Given the description of an element on the screen output the (x, y) to click on. 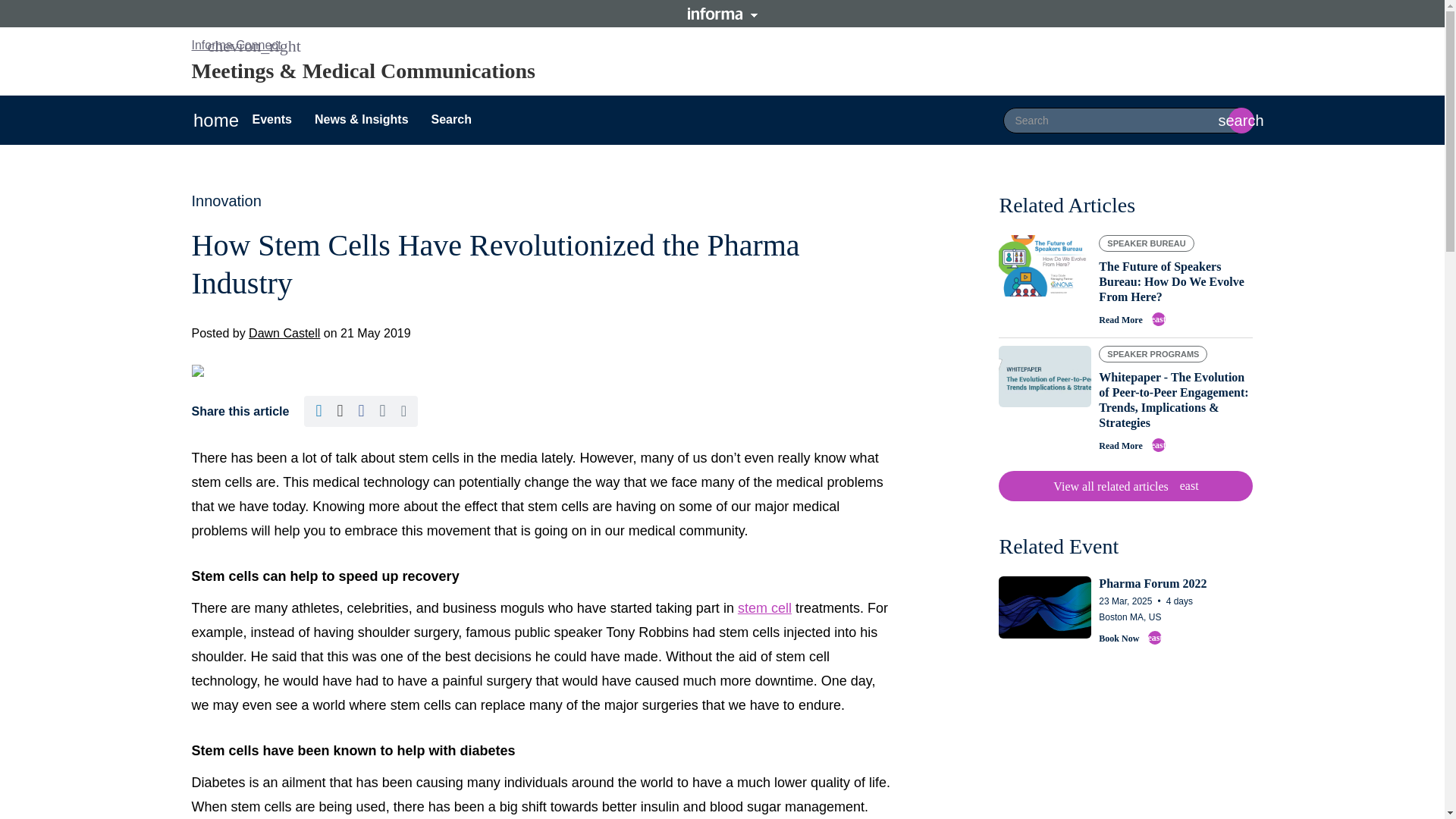
Informa Connect (235, 44)
home (1125, 485)
stem cell (215, 119)
